Given the description of an element on the screen output the (x, y) to click on. 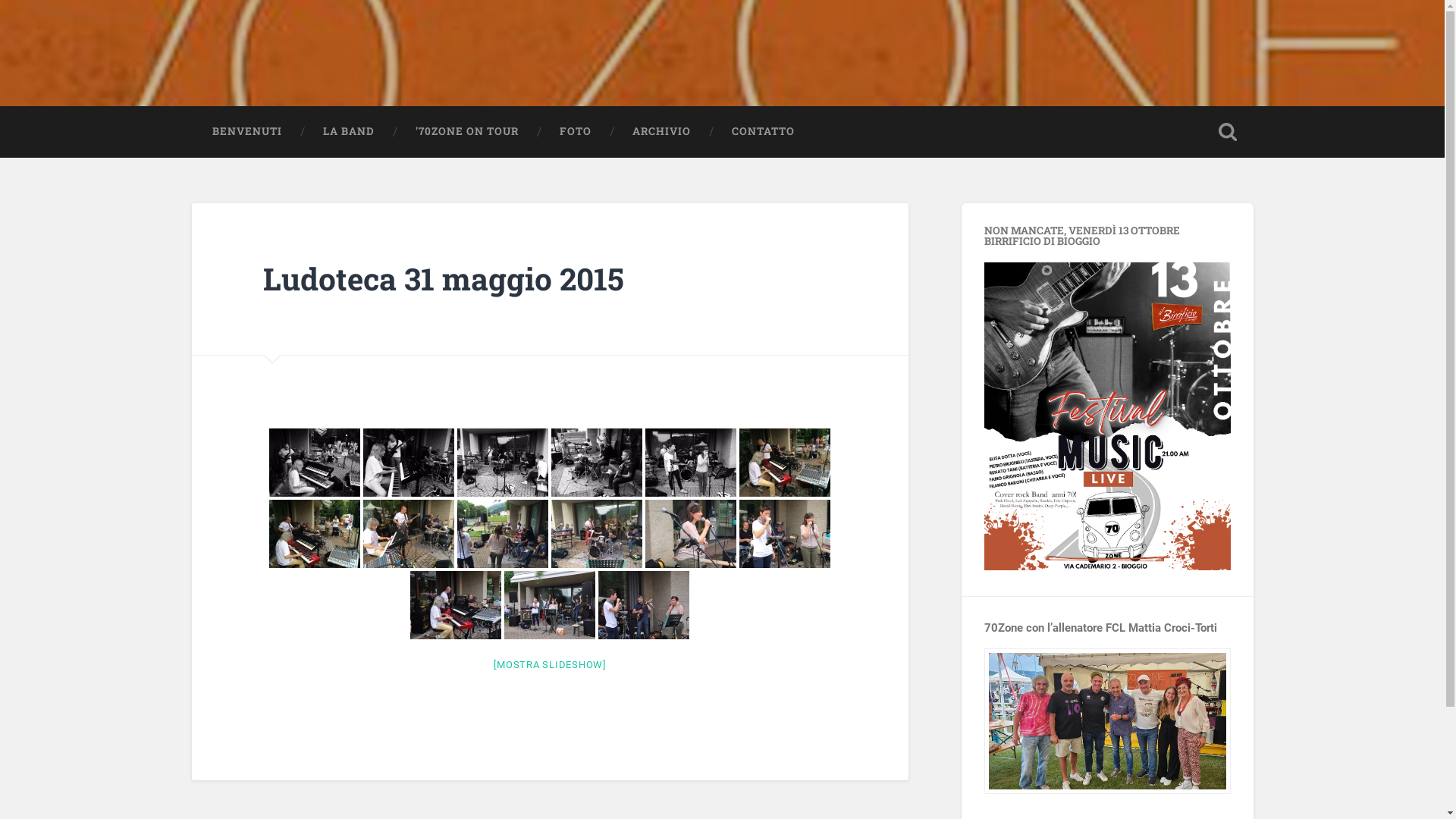
[MOSTRA SLIDESHOW] Element type: text (549, 664)
LA BAND Element type: text (347, 131)
IMG_8995 Element type: hover (314, 533)
ARCHIVIO Element type: text (660, 131)
FOTO Element type: text (574, 131)
IMG_8988 Element type: hover (784, 462)
FullSizeRender Element type: hover (690, 462)
IMG_9002 Element type: hover (784, 533)
CONTATTO Element type: text (763, 131)
DSC_0314 Element type: hover (643, 605)
IMG_8996 Element type: hover (408, 533)
DSC_0287 Element type: hover (455, 605)
IMG_8998 Element type: hover (596, 533)
FullSizeRender-1 Element type: hover (314, 462)
DSC_0295 Element type: hover (549, 605)
FullSizeRender-4 Element type: hover (596, 462)
IMG_8999 Element type: hover (690, 533)
FullSizeRender-3 Element type: hover (502, 462)
FullSizeRender-2 Element type: hover (408, 462)
IMG_8997 Element type: hover (502, 533)
BENVENUTI Element type: text (246, 131)
